Given the description of an element on the screen output the (x, y) to click on. 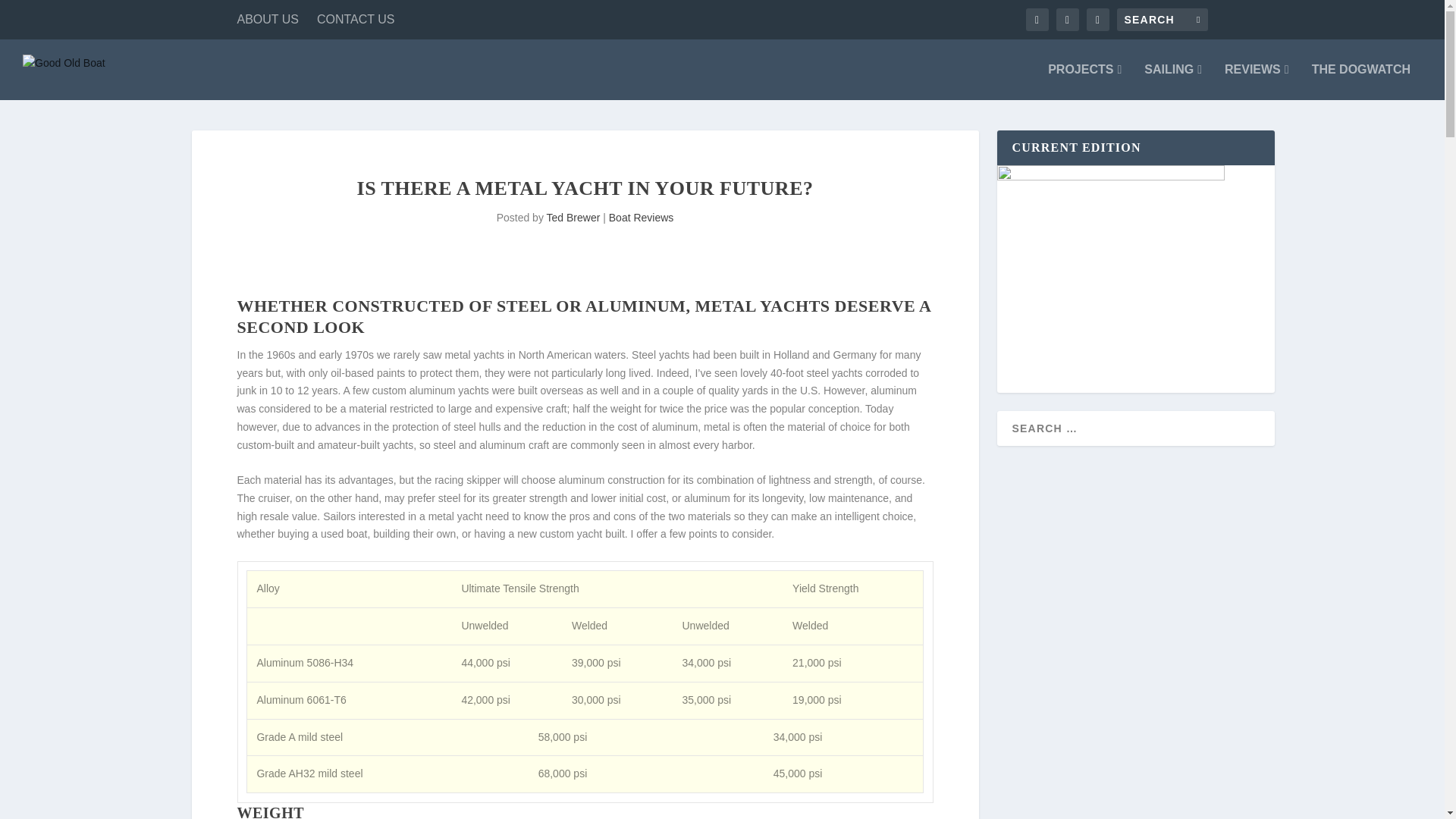
Ted Brewer (573, 217)
ABOUT US (266, 19)
Search for: (1161, 19)
SAILING (1173, 81)
REVIEWS (1256, 81)
THE DOGWATCH (1360, 81)
Posts by Ted Brewer (573, 217)
CONTACT US (355, 19)
PROJECTS (1084, 81)
Boat Reviews (641, 217)
